Given the description of an element on the screen output the (x, y) to click on. 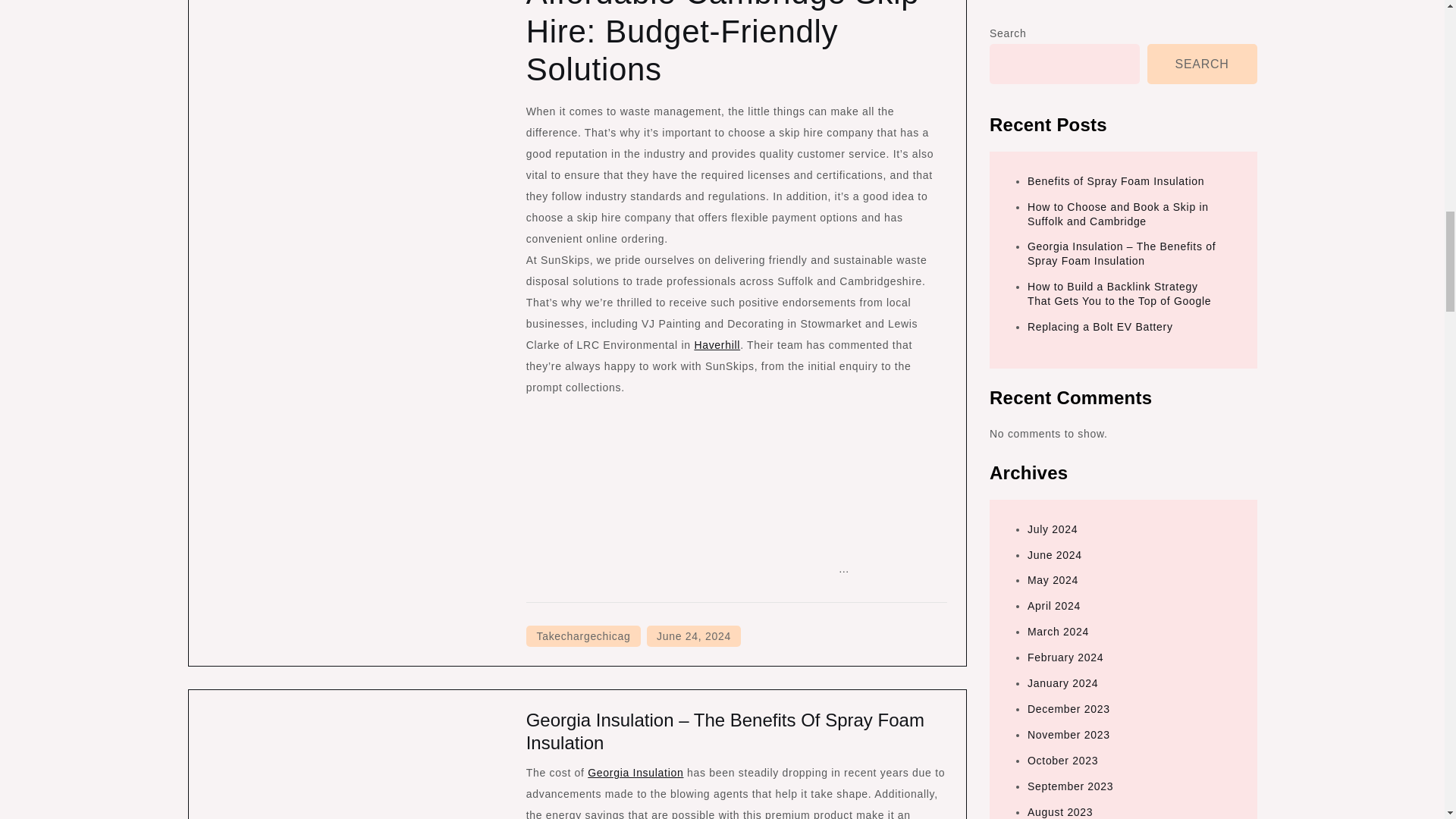
June 24, 2024 (693, 636)
Haverhill (716, 345)
Takechargechicag (582, 636)
Georgia Insulation (635, 772)
